Given the description of an element on the screen output the (x, y) to click on. 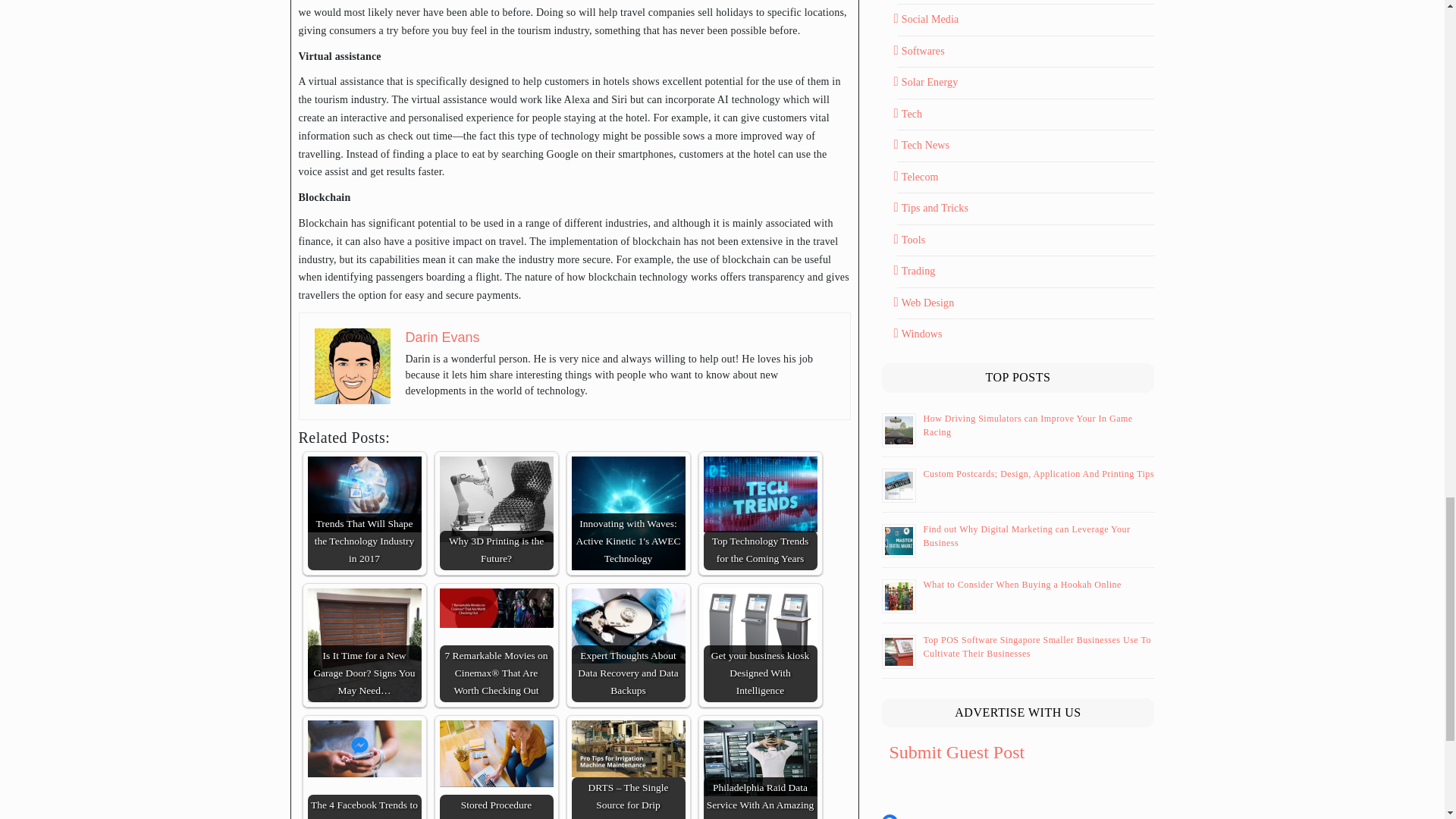
Stored Procedure Development (496, 753)
Trends That Will Shape the Technology Industry in 2017 (364, 494)
The 4 Facebook Trends to Focus for 2016 (364, 748)
Darin Evans (441, 337)
Top Technology Trends for the Coming Years (759, 494)
Expert Thoughts About Data Recovery and Data Backups (628, 625)
Philadelphia Raid Data Service With An Amazing Offer (759, 758)
Darin Evans (352, 366)
Innovating with Waves: Active Kinetic 1's AWEC Technology (628, 513)
